Given the description of an element on the screen output the (x, y) to click on. 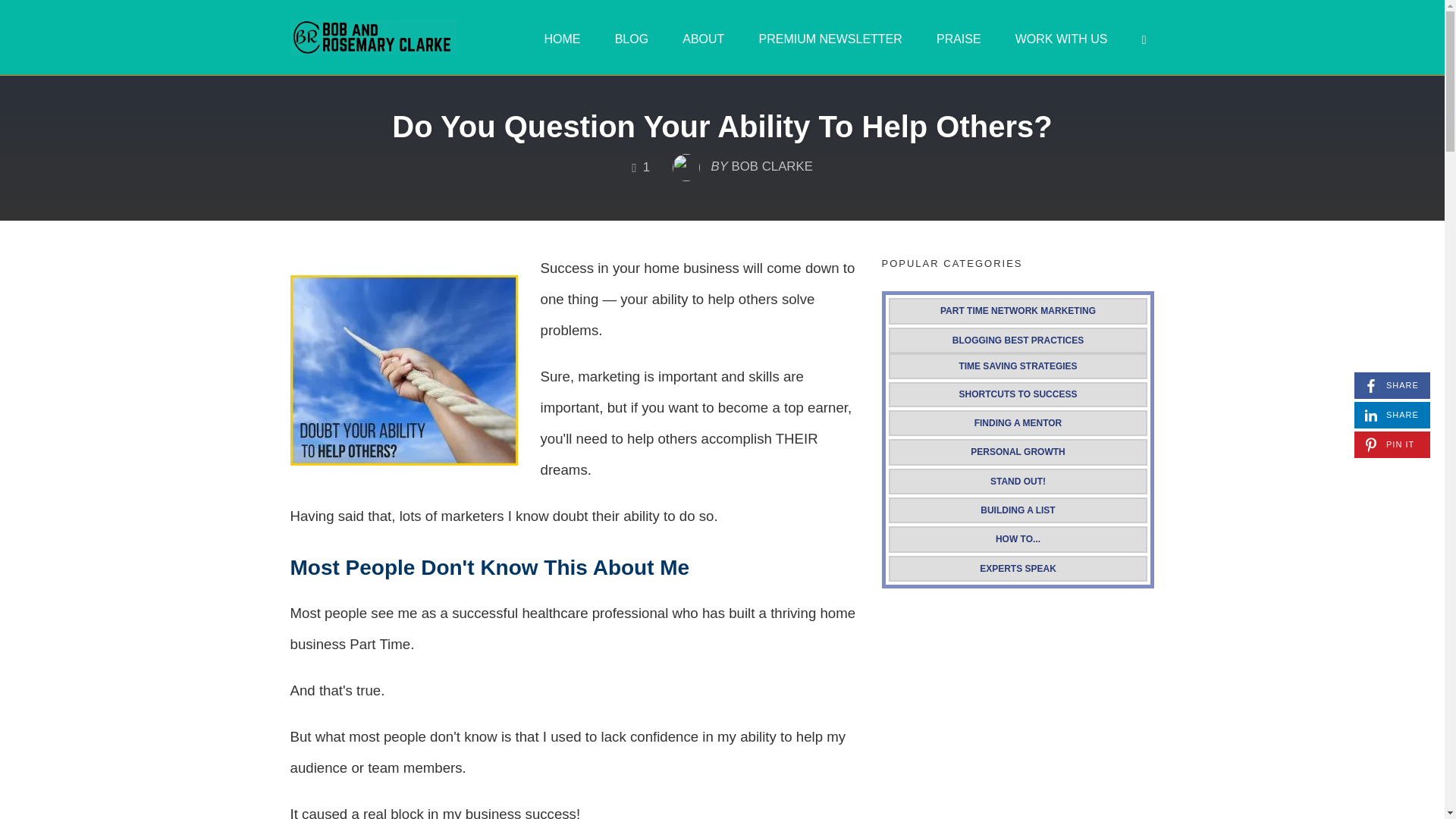
Do You Question Your Ability To Help Others? (721, 126)
ABOUT (703, 38)
BY BOB CLARKE (742, 162)
OPEN SEARCH FORM (1144, 39)
PREMIUM NEWSLETTER (829, 38)
HOME (1391, 415)
Dr. Bob Clarke (562, 38)
PRAISE (373, 37)
WORK WITH US (959, 38)
